Given the description of an element on the screen output the (x, y) to click on. 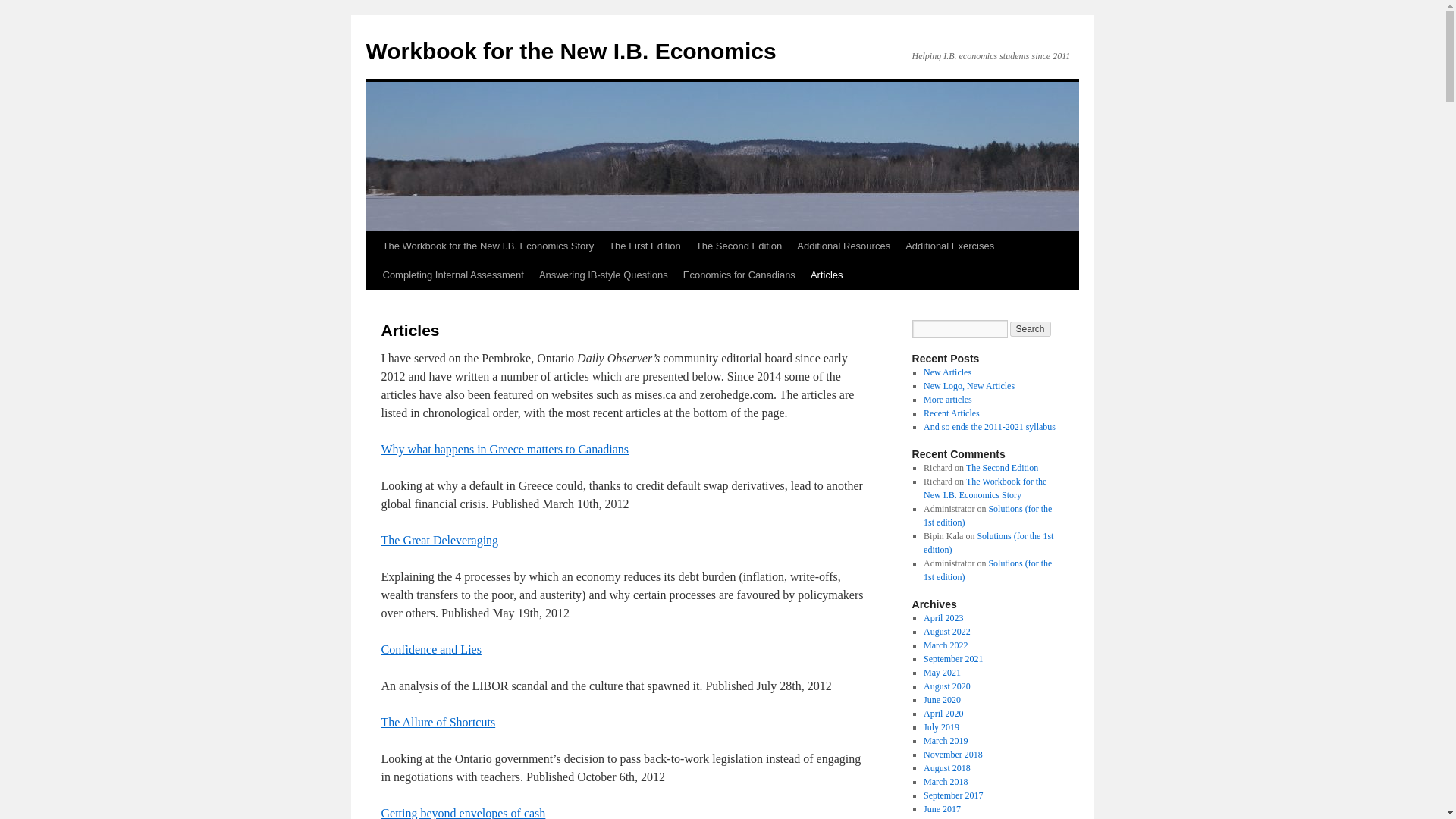
Completing Internal Assessment (452, 275)
Answering IB-style Questions (603, 275)
Additional Resources (843, 246)
The Great Deleveraging (438, 540)
Additional Exercises (949, 246)
The Allure of Shortcuts (437, 721)
Getting beyond envelopes of cash (462, 812)
Workbook for the New I.B. Economics (570, 50)
Economics for Canadians (739, 275)
The Second Edition (738, 246)
Workbook for the New I.B. Economics (570, 50)
The Workbook for the New I.B. Economics Story (487, 246)
Search (1030, 328)
Confidence and Lies (430, 649)
The First Edition (644, 246)
